Given the description of an element on the screen output the (x, y) to click on. 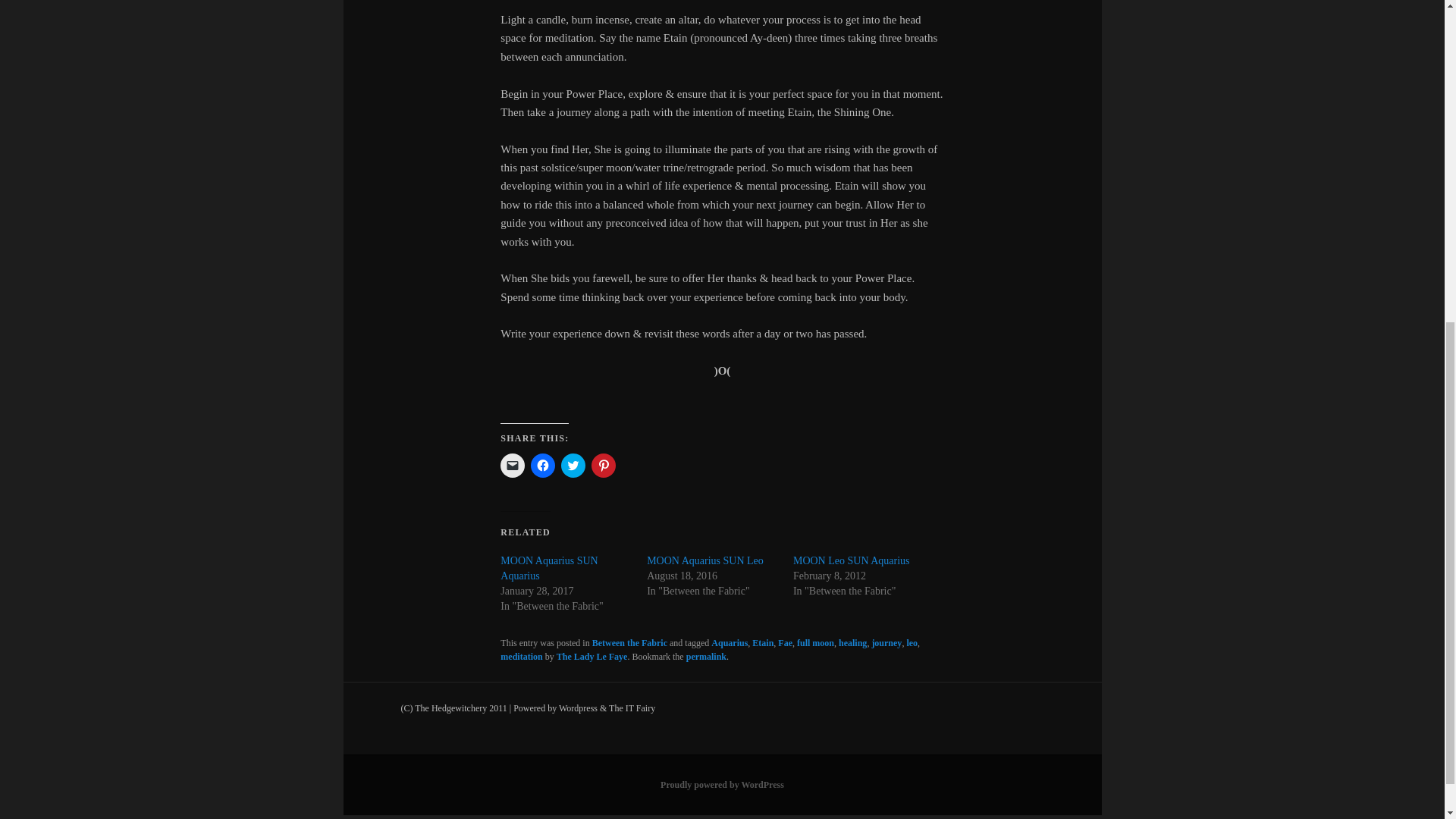
journey (885, 643)
healing (852, 643)
meditation (520, 656)
Fae (784, 643)
Click to email a link to a friend (512, 465)
Semantic Personal Publishing Platform (722, 784)
Proudly powered by WordPress (722, 784)
MOON Leo SUN Aquarius (851, 560)
MOON Aquarius SUN Aquarius (548, 568)
leo (911, 643)
Aquarius (729, 643)
Permalink to MOON Aquarius SUN Leo (705, 656)
MOON Aquarius SUN Aquarius (548, 568)
MOON Leo SUN Aquarius (851, 560)
Click to share on Pinterest (603, 465)
